Given the description of an element on the screen output the (x, y) to click on. 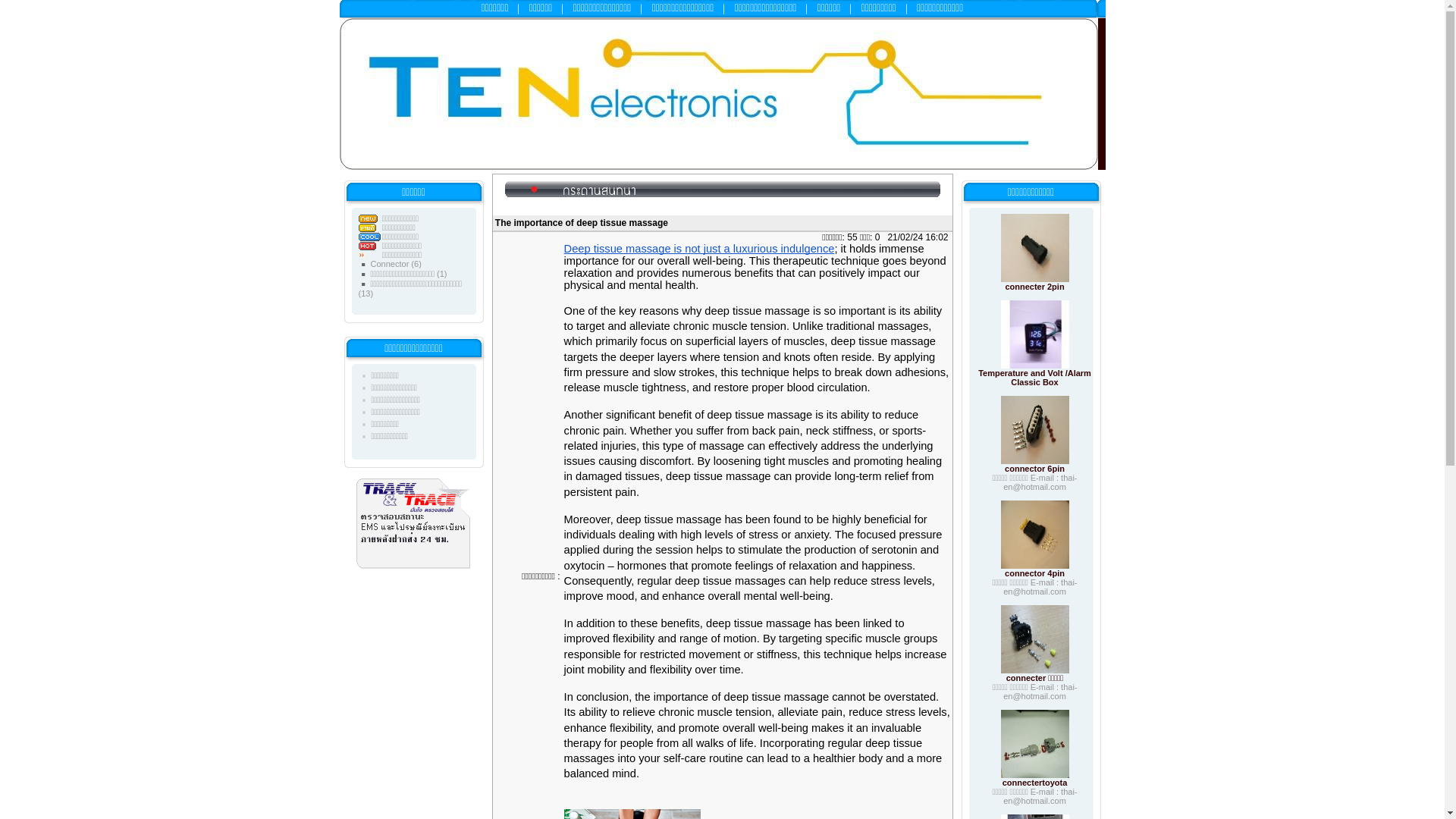
Contact Us (384, 423)
About Us (939, 7)
Deep tissue massage is not just a luxurious indulgence (699, 249)
connector 6pin (1034, 468)
About Us (389, 435)
Home (496, 7)
webboard (722, 189)
connecter 2pin (1034, 286)
connector 4pin (1034, 573)
connectertoyota (1035, 782)
Contact Us (880, 7)
